Given the description of an element on the screen output the (x, y) to click on. 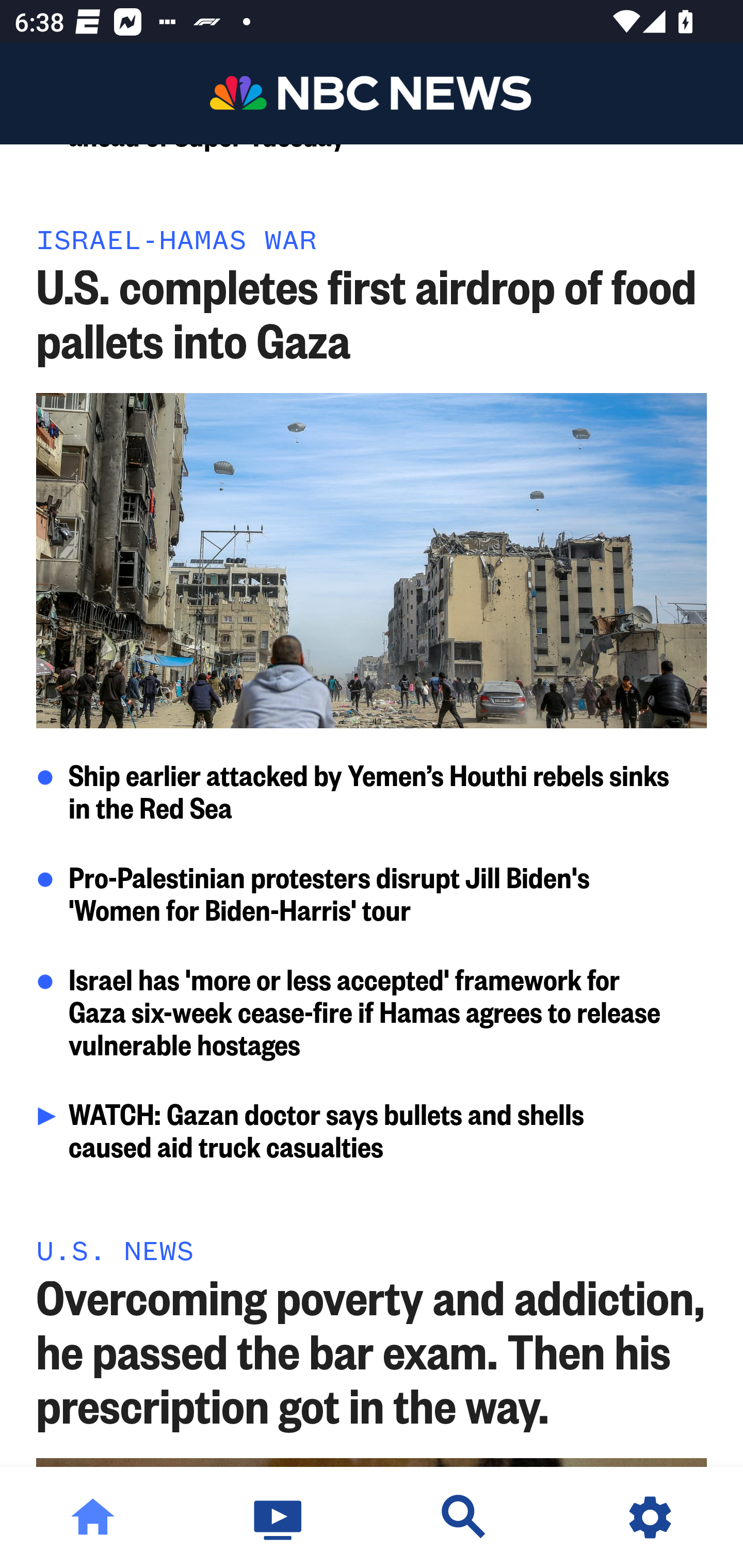
Watch (278, 1517)
Discover (464, 1517)
Settings (650, 1517)
